Given the description of an element on the screen output the (x, y) to click on. 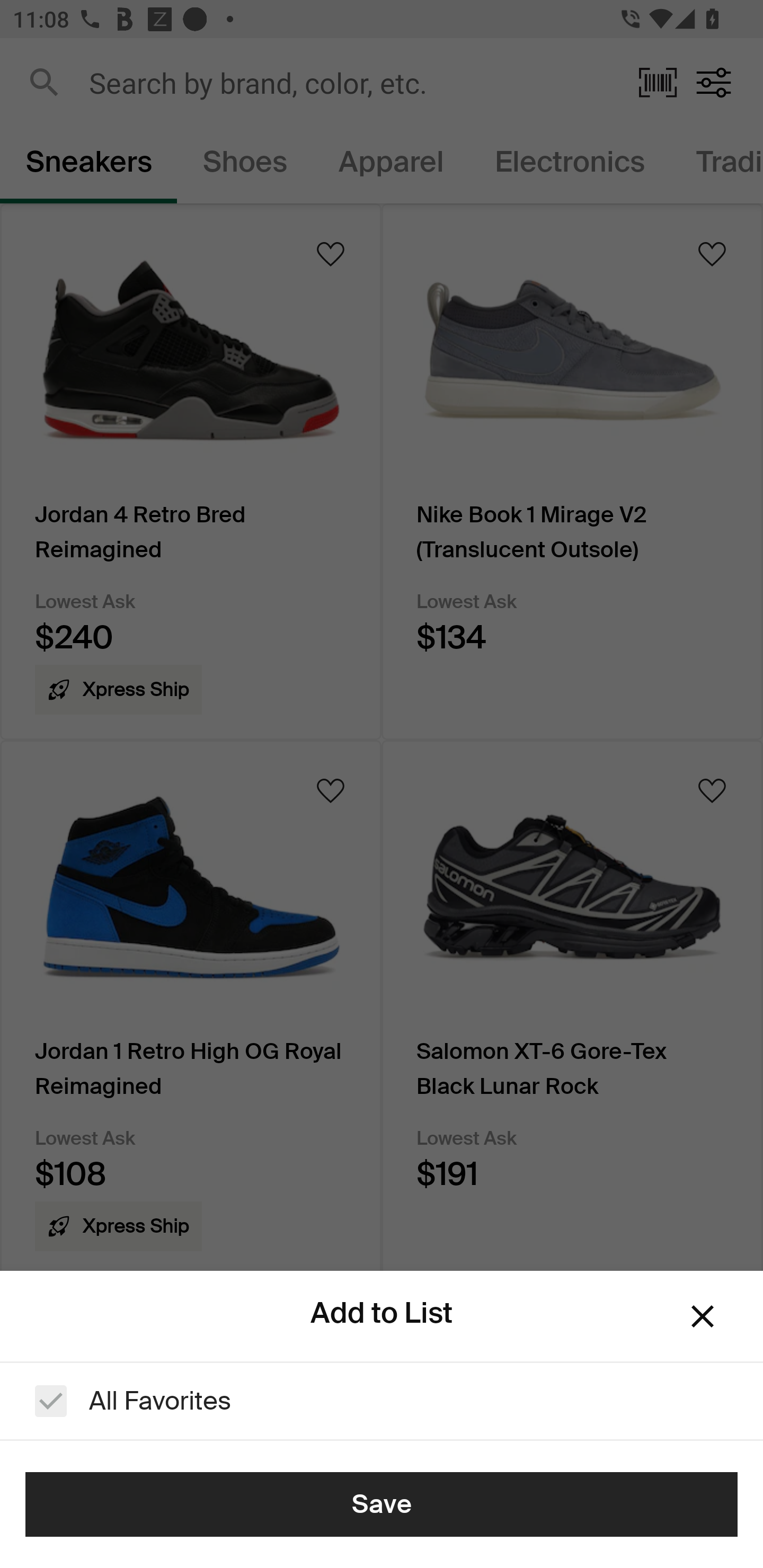
Dismiss (702, 1315)
All Favorites (381, 1400)
Save (381, 1504)
